Given the description of an element on the screen output the (x, y) to click on. 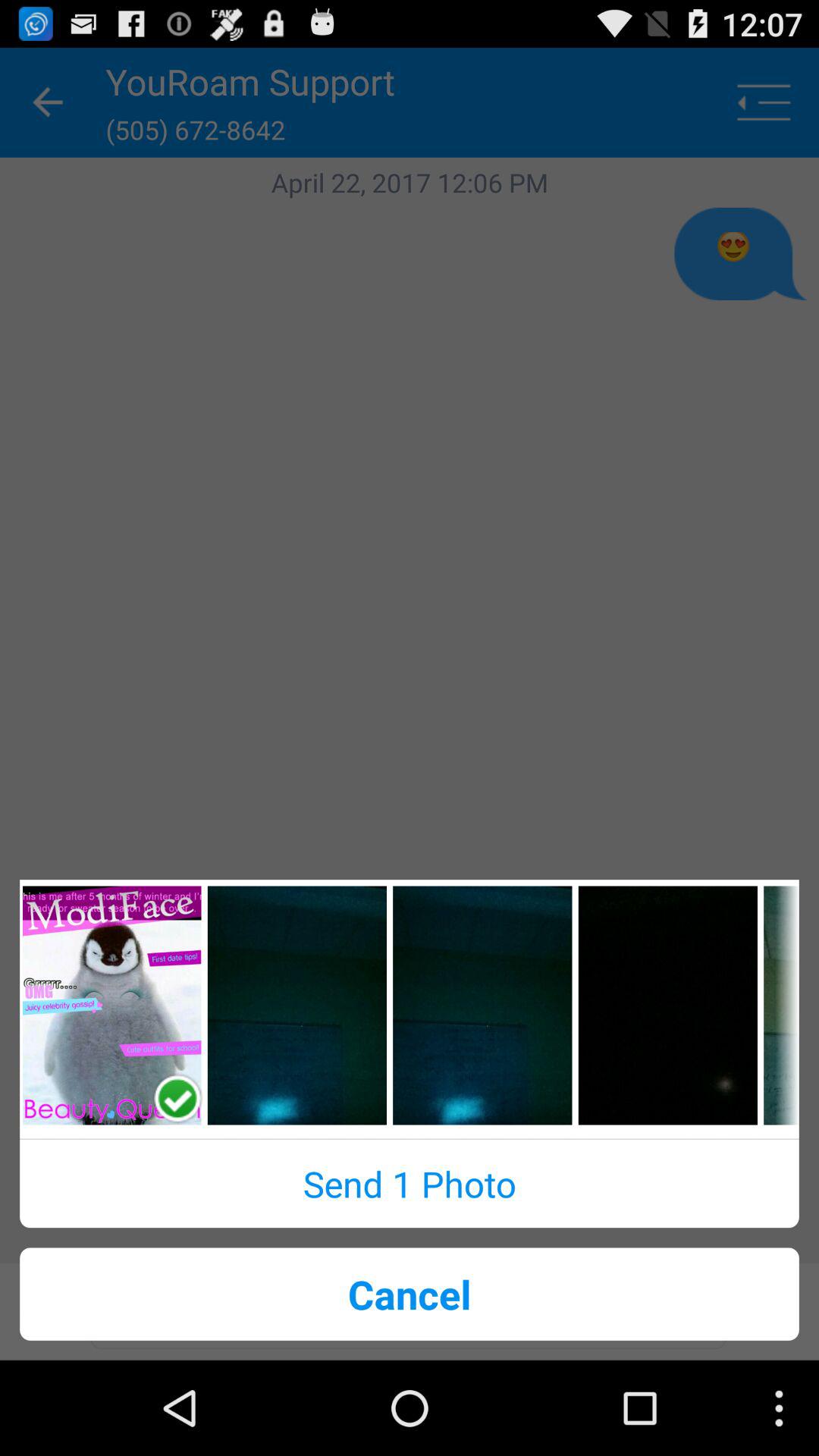
see picture (482, 1005)
